Given the description of an element on the screen output the (x, y) to click on. 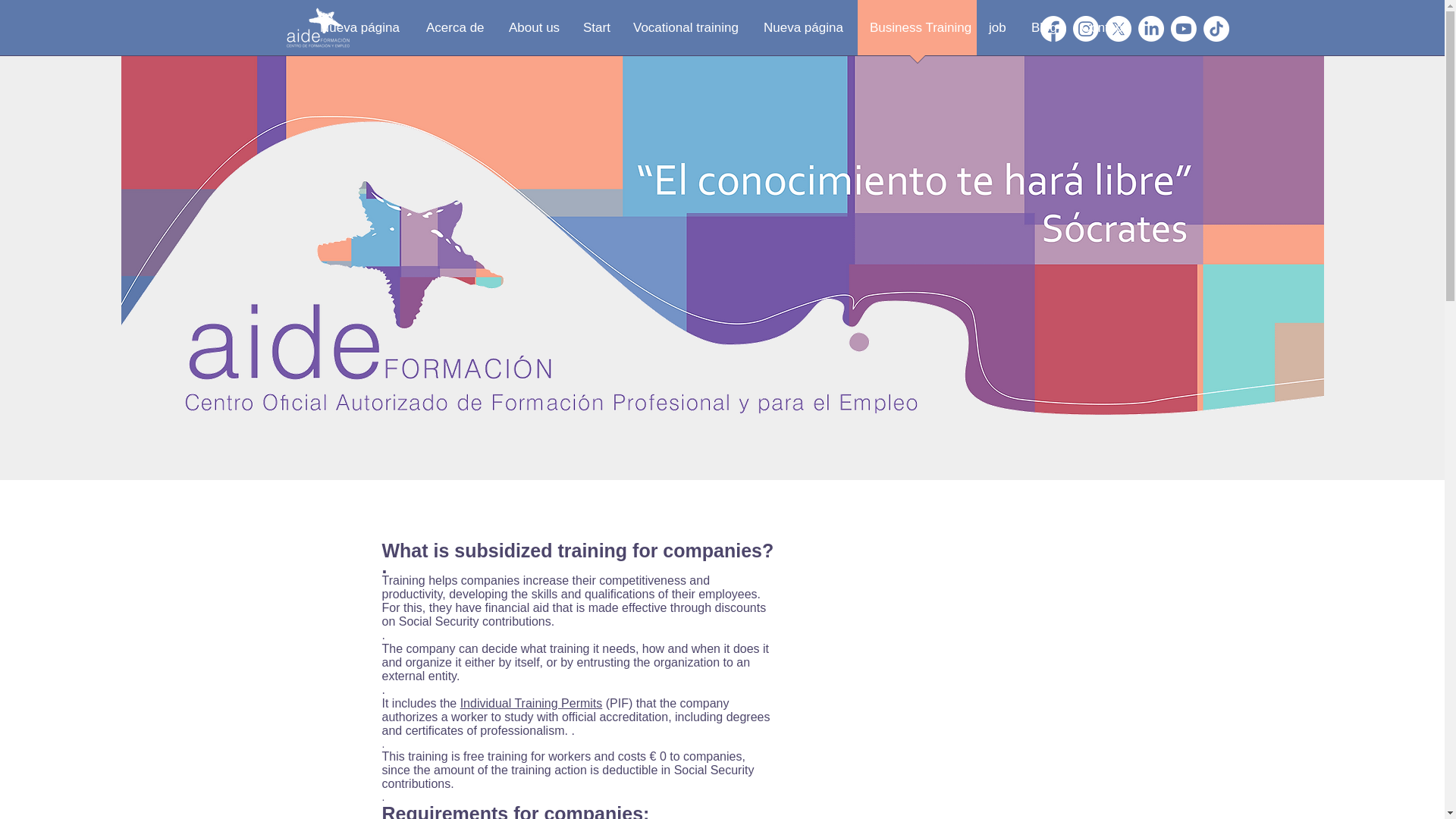
Acerca de (454, 32)
Contact (1102, 32)
job (997, 32)
Blog (1043, 32)
Log in (1267, 28)
Business Training (916, 32)
Vocational training (686, 32)
Individual Training Permits (531, 702)
Start (595, 32)
About us (533, 32)
